Given the description of an element on the screen output the (x, y) to click on. 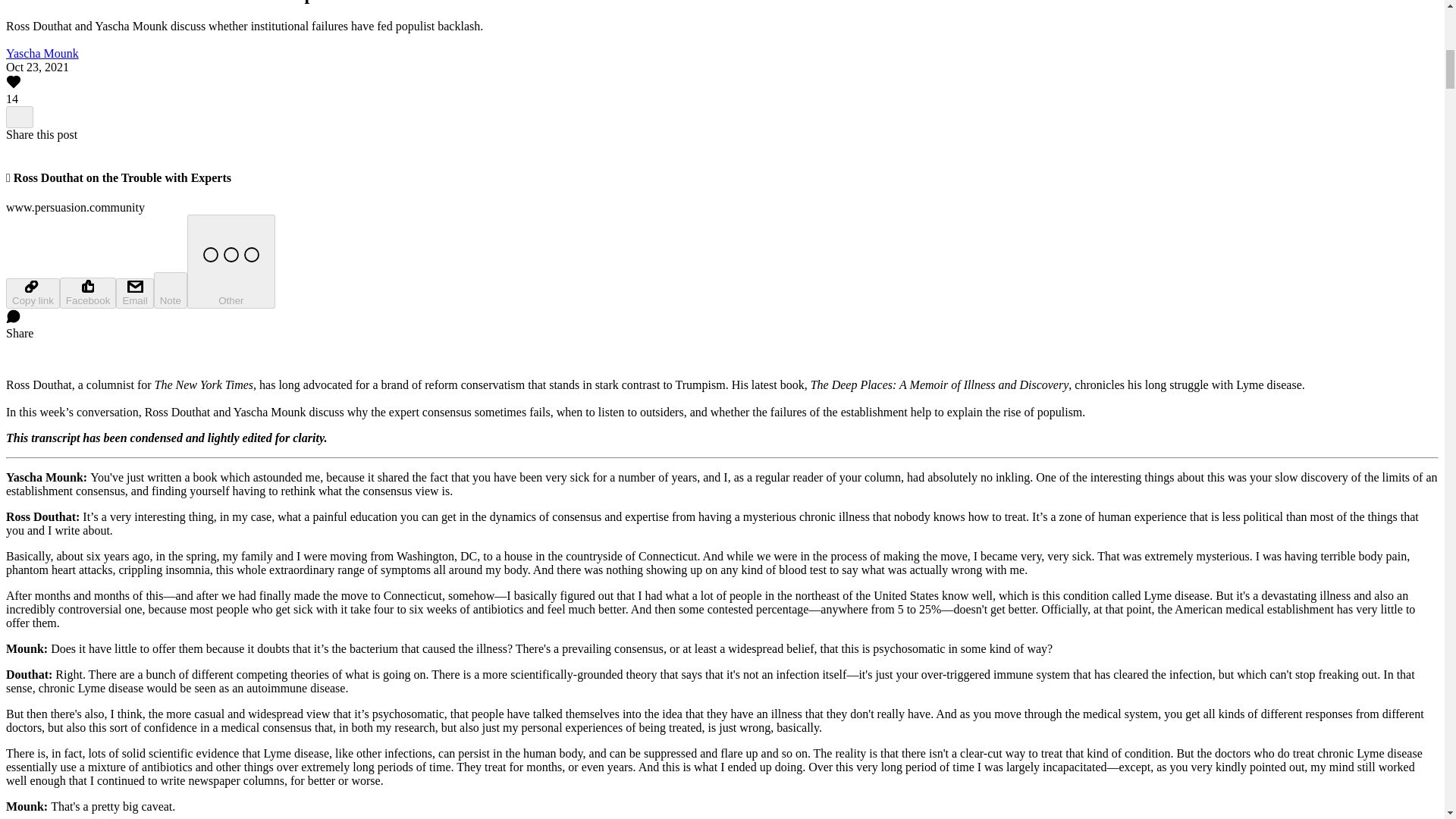
Copy link (32, 293)
Facebook (87, 292)
Other (231, 261)
Email (134, 293)
Note (170, 289)
Yascha Mounk (41, 52)
